Given the description of an element on the screen output the (x, y) to click on. 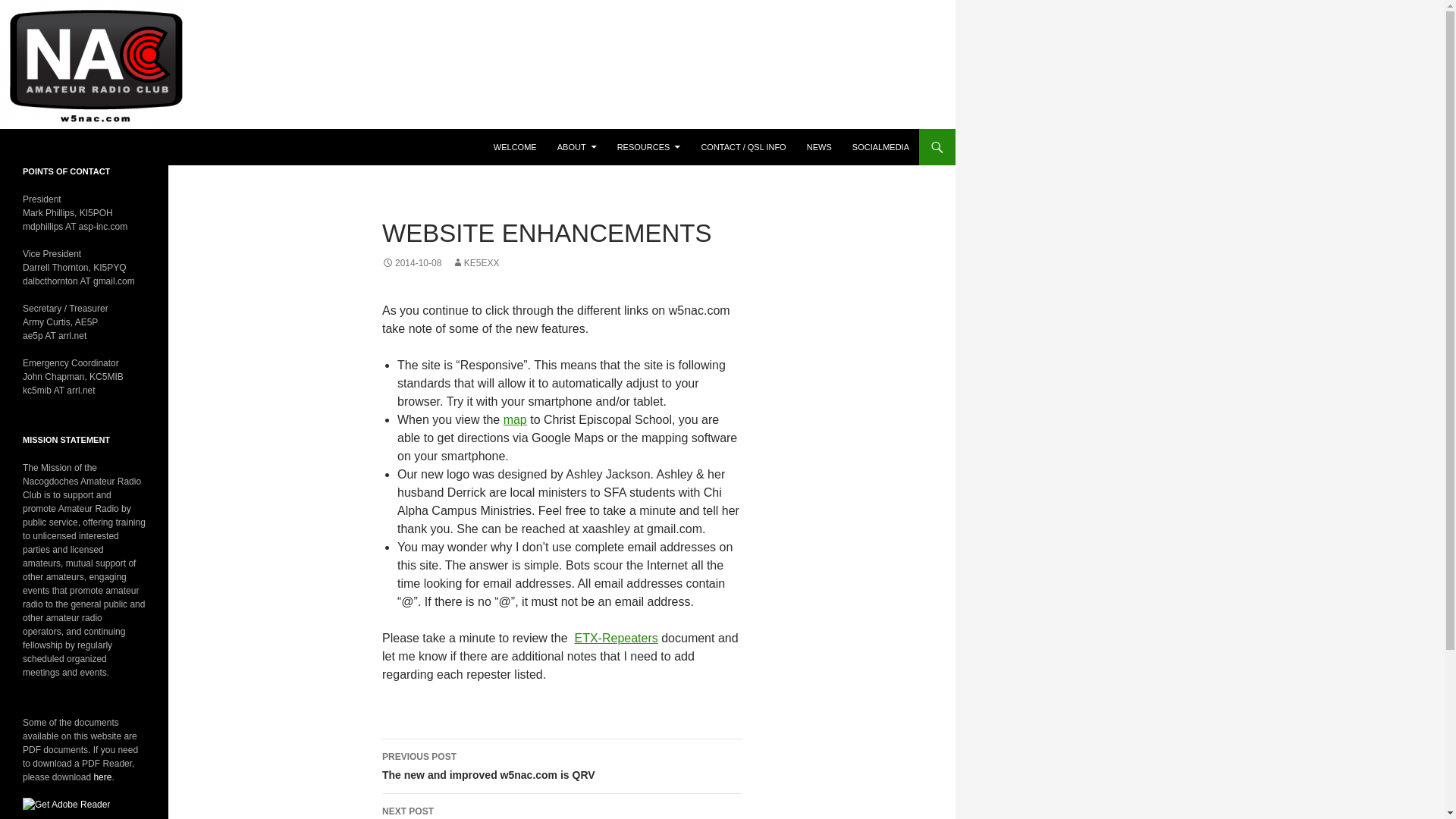
2014-10-08 (411, 262)
RESOURCES (649, 146)
here (102, 777)
KE5EXX (561, 766)
map (475, 262)
w5nac.com (515, 419)
SOCIALMEDIA (59, 146)
WELCOME (880, 146)
ABOUT (515, 146)
NEWS (576, 146)
Directions to Christ Episcopal School (819, 146)
SKIP TO CONTENT (515, 419)
